Given the description of an element on the screen output the (x, y) to click on. 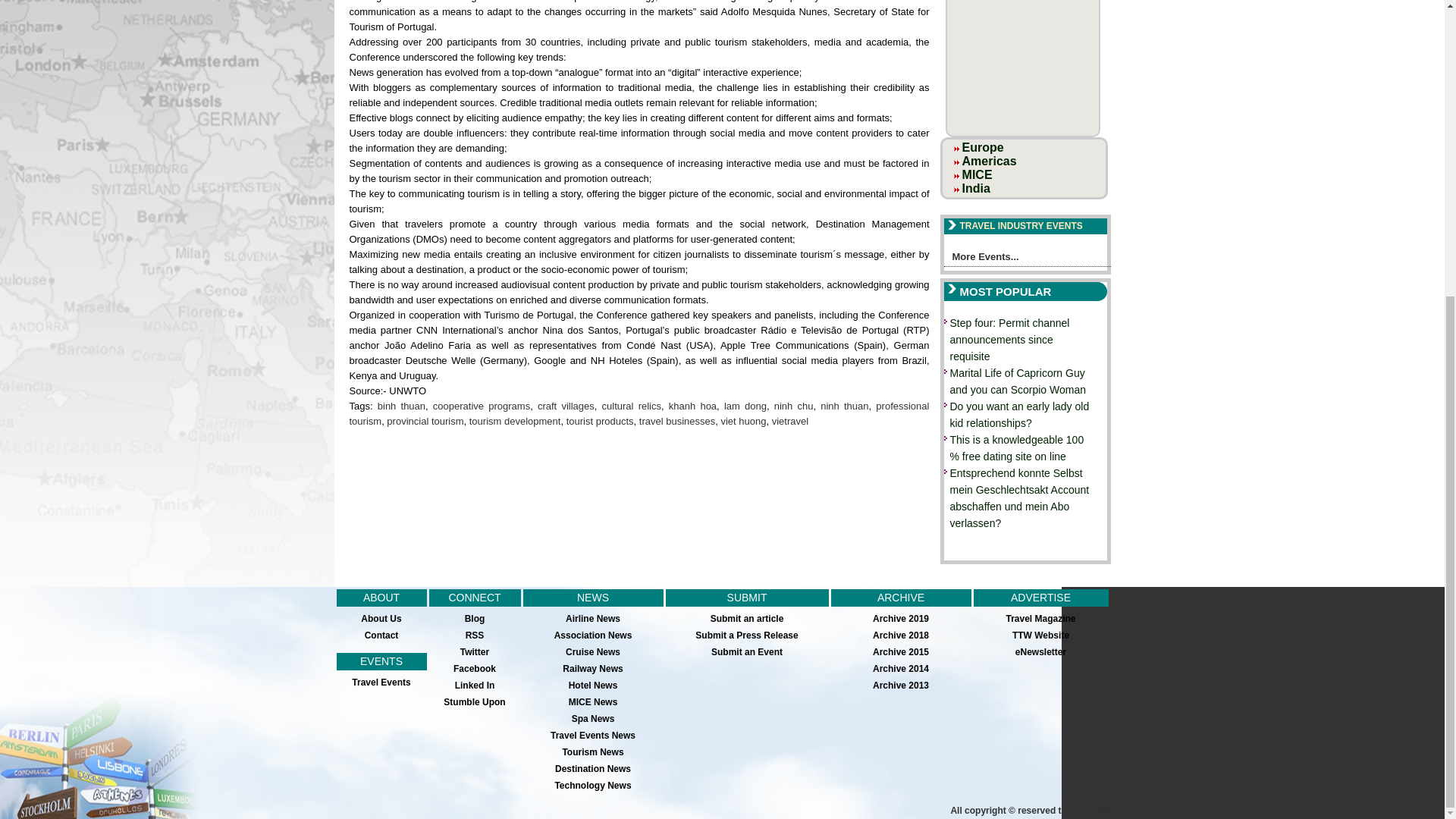
MICE (977, 174)
ninh chu (793, 405)
Americas (989, 160)
tourist products (599, 420)
Europe (983, 146)
vietravel (789, 420)
viet huong (742, 420)
travel businesses (676, 420)
More Events... (1026, 258)
professional tourism (638, 413)
craft villages (565, 405)
ninh thuan (844, 405)
binh thuan (401, 405)
cultural relics (631, 405)
cooperative programs (480, 405)
